Given the description of an element on the screen output the (x, y) to click on. 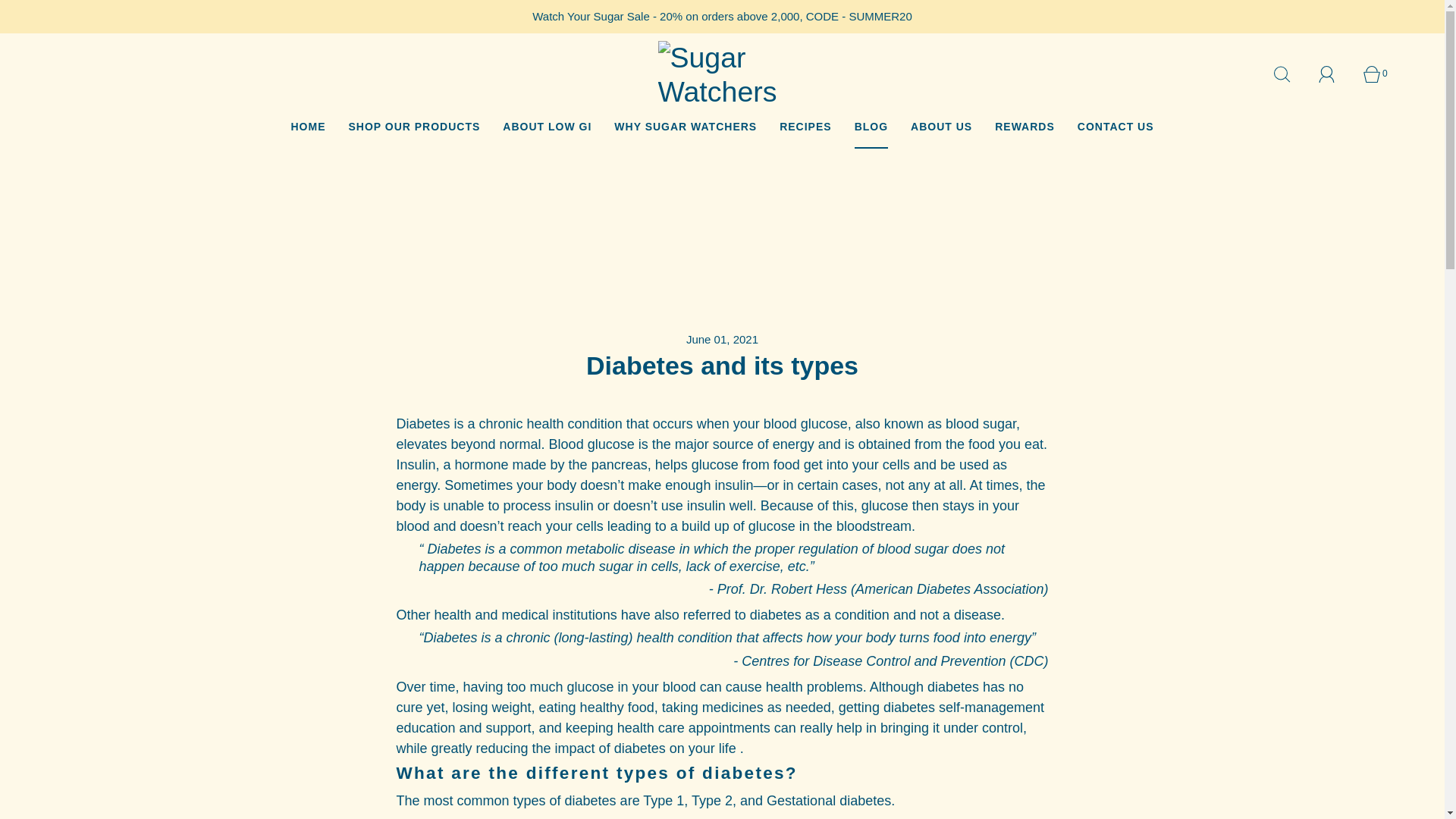
Search (1290, 73)
Log in (1335, 73)
Cart (1379, 73)
SHOP OUR PRODUCTS (413, 126)
0 (1379, 73)
